Given the description of an element on the screen output the (x, y) to click on. 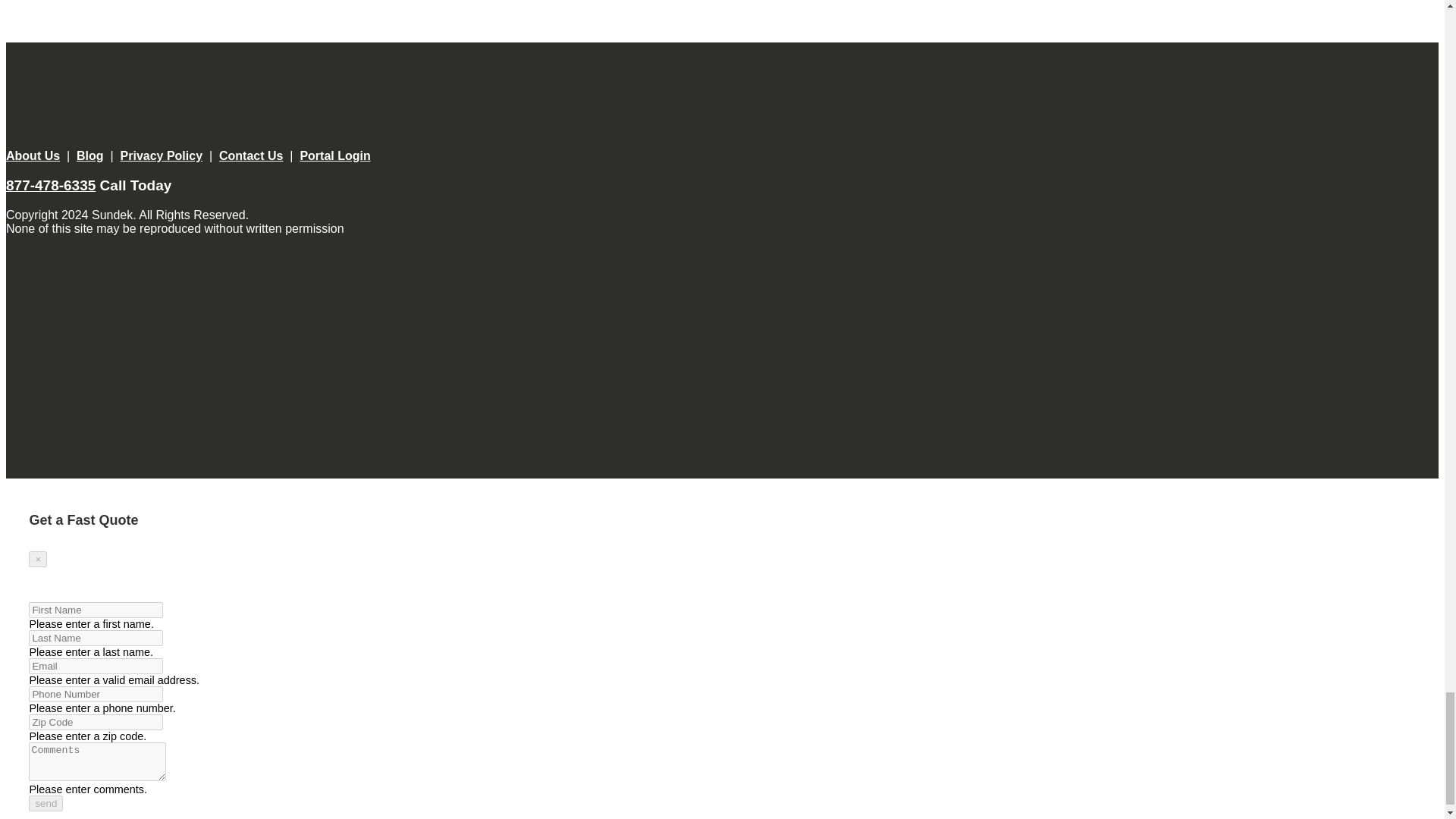
Contact Us (250, 155)
Privacy Policy (161, 155)
About Us (32, 155)
Blog (90, 155)
send (45, 803)
